Given the description of an element on the screen output the (x, y) to click on. 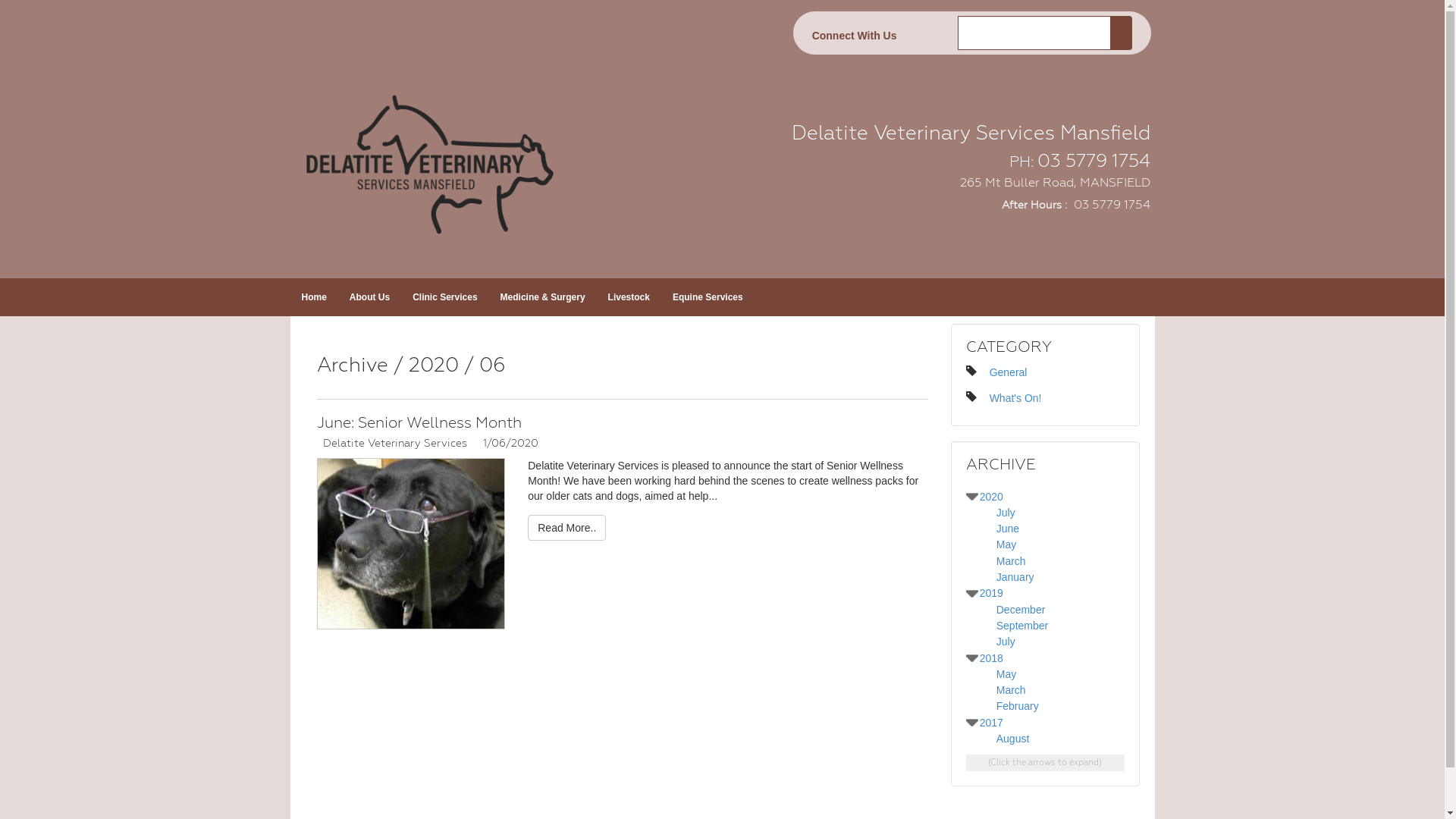
June Element type: text (1007, 528)
Clinic Services Element type: text (444, 297)
July Element type: text (1005, 512)
General Element type: text (1008, 372)
August Element type: text (1012, 738)
About Us Element type: text (369, 297)
January Element type: text (1015, 577)
2020 Element type: text (991, 496)
2017 Element type: text (991, 722)
Home Element type: text (313, 297)
Read More.. Element type: text (566, 527)
Livestock Element type: text (628, 297)
July Element type: text (1005, 641)
December Element type: text (1020, 609)
May Element type: text (1006, 544)
March Element type: text (1011, 690)
2019 Element type: text (991, 592)
2018 Element type: text (991, 658)
May Element type: text (1006, 674)
What's On! Element type: text (1015, 398)
03 5779 1754 Element type: text (1093, 160)
Equine Services Element type: text (707, 297)
February Element type: text (1017, 705)
September Element type: text (1022, 625)
March Element type: text (1011, 561)
Medicine & Surgery Element type: text (542, 297)
pf2vmdkz.jpg Element type: hover (410, 544)
03 5779 1754 Element type: text (1110, 204)
